Given the description of an element on the screen output the (x, y) to click on. 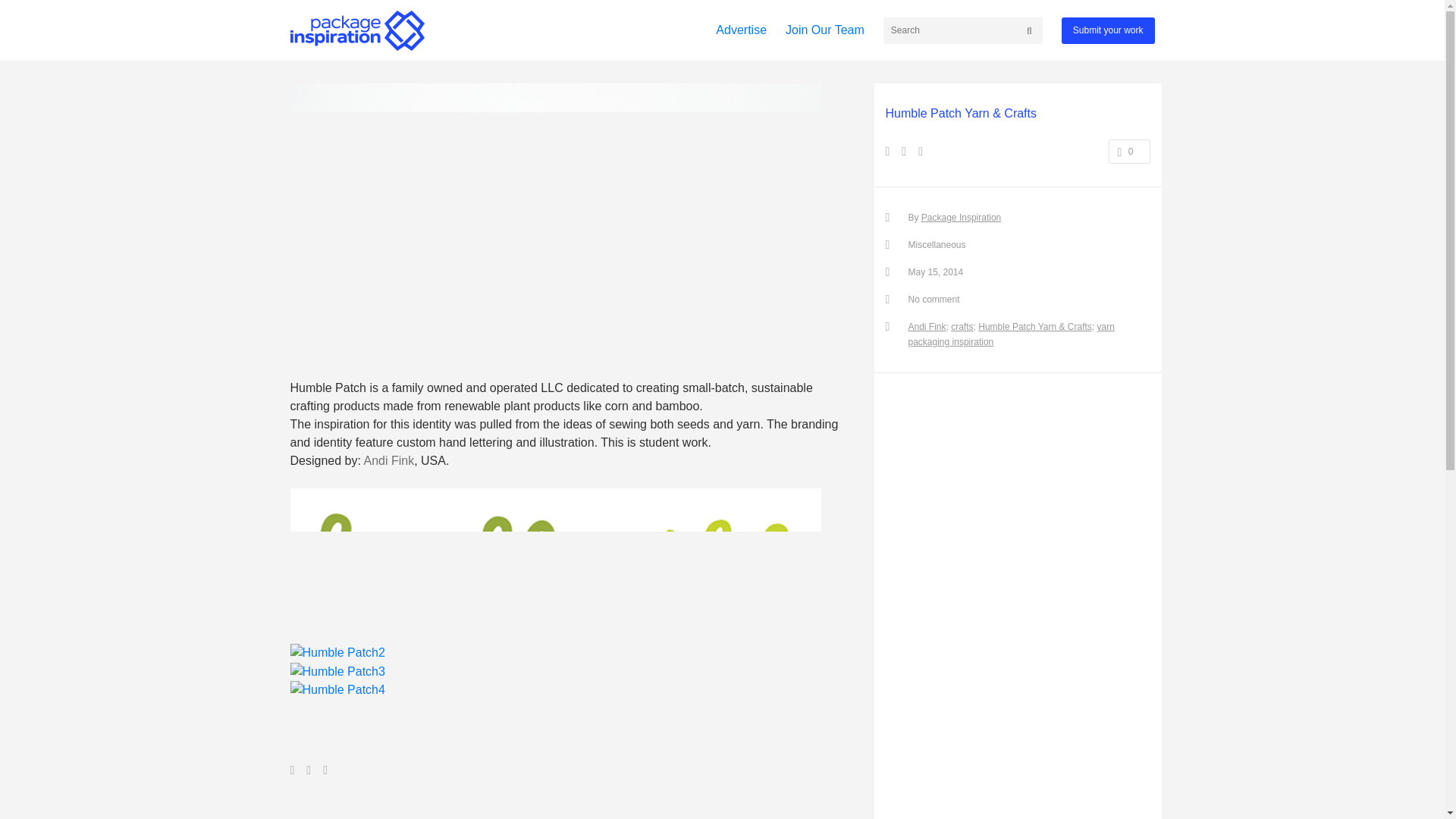
crafts (961, 326)
0 (1129, 151)
yarn packaging inspiration (1011, 334)
Submit your work (1107, 29)
Package Inspiration (961, 217)
Andi Fink (387, 460)
Advertise (741, 29)
Andi Fink (927, 326)
Join Our Team (825, 29)
